Given the description of an element on the screen output the (x, y) to click on. 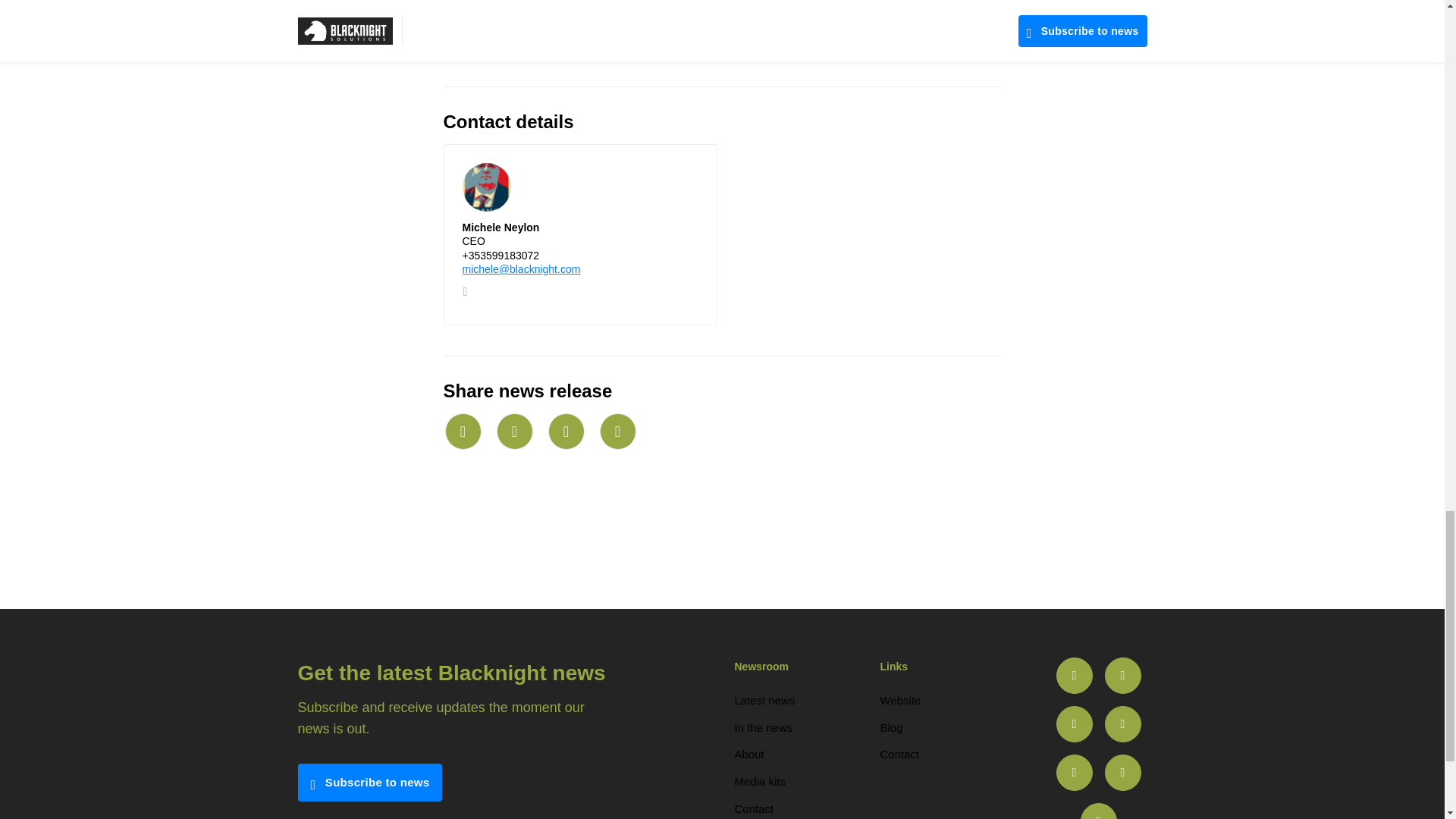
Contact (898, 753)
Media kits (759, 780)
Share this page on Twitter (514, 431)
Contact (753, 808)
Subscribe to news (369, 782)
Website (899, 699)
Share this page on Facebook (616, 431)
Latest news (763, 699)
About (747, 753)
Share this page on Linkedin (565, 431)
In the news (762, 727)
Blog (890, 727)
